Given the description of an element on the screen output the (x, y) to click on. 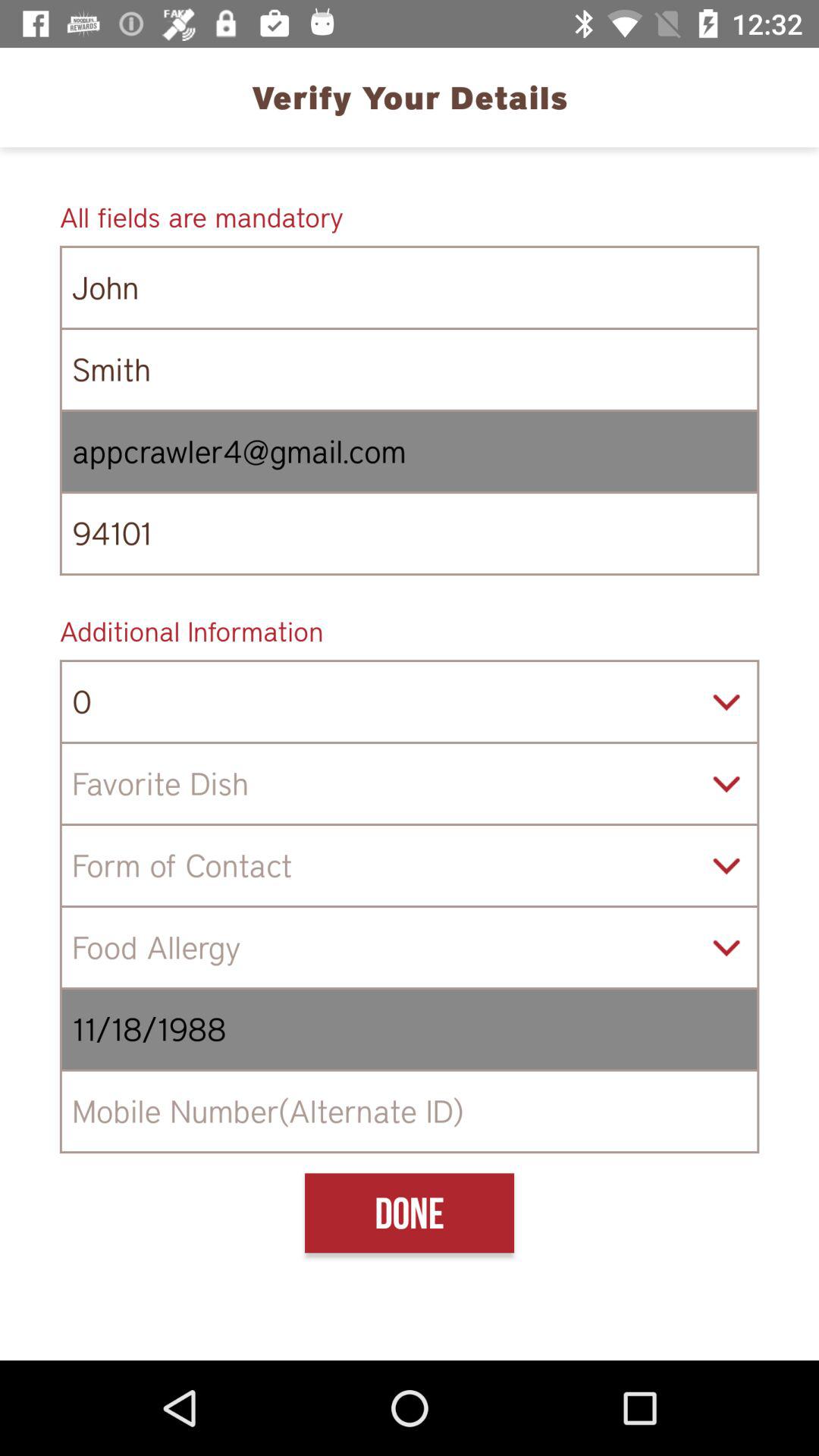
launch the all fields are icon (409, 217)
